Given the description of an element on the screen output the (x, y) to click on. 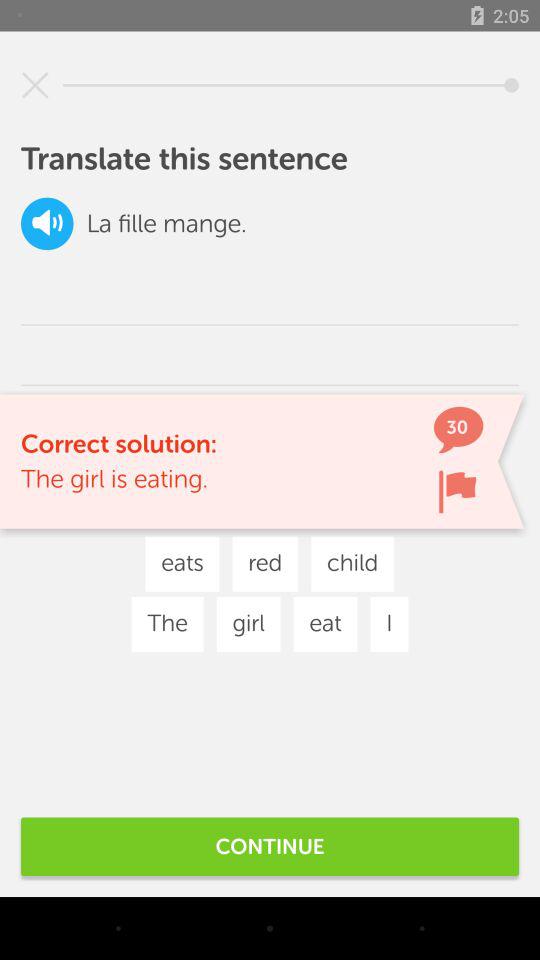
play audio (47, 223)
